Given the description of an element on the screen output the (x, y) to click on. 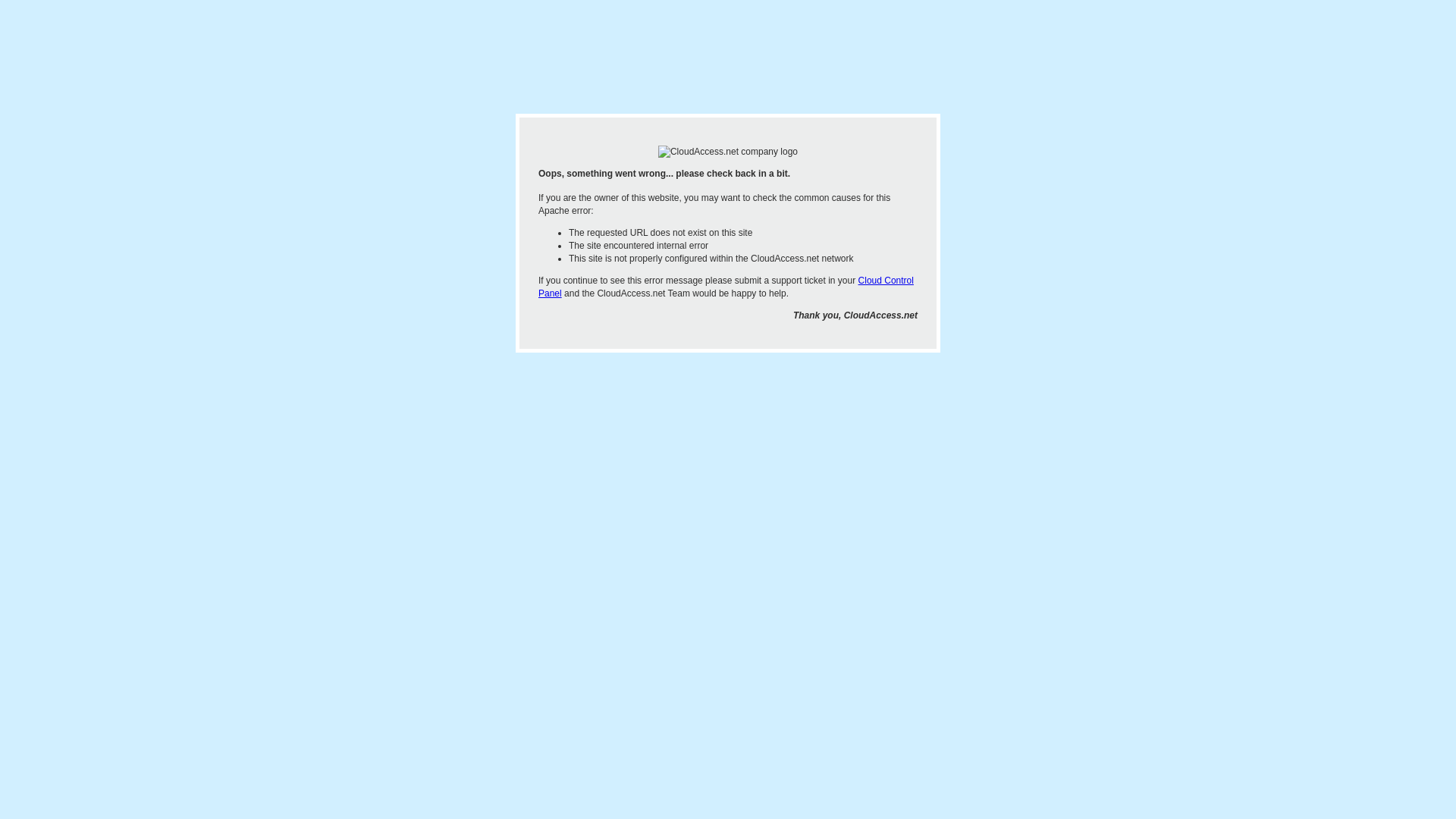
Cloud Control Panel Element type: text (725, 286)
